Given the description of an element on the screen output the (x, y) to click on. 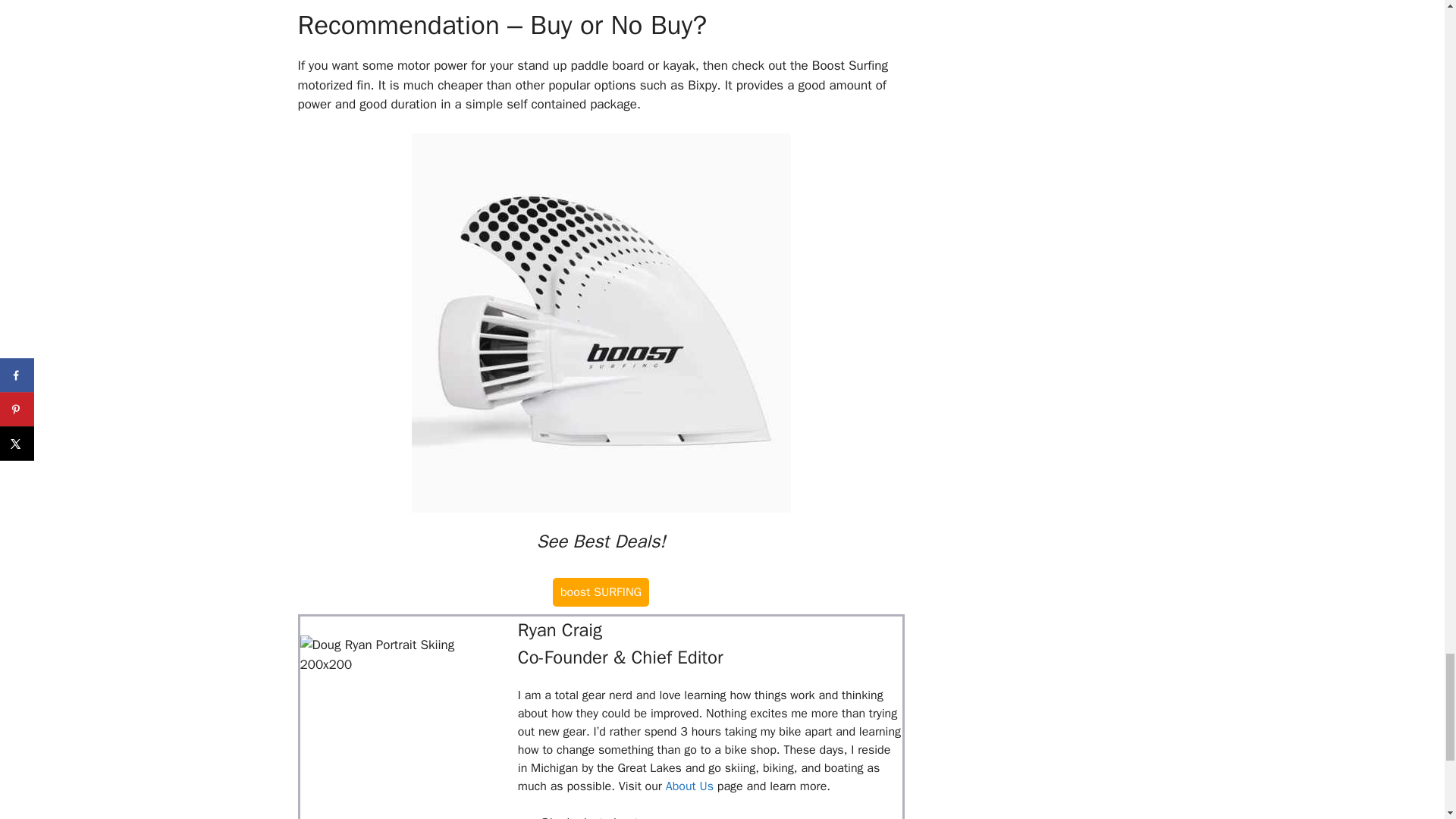
boost SURFING (601, 592)
About Us (689, 785)
